Given the description of an element on the screen output the (x, y) to click on. 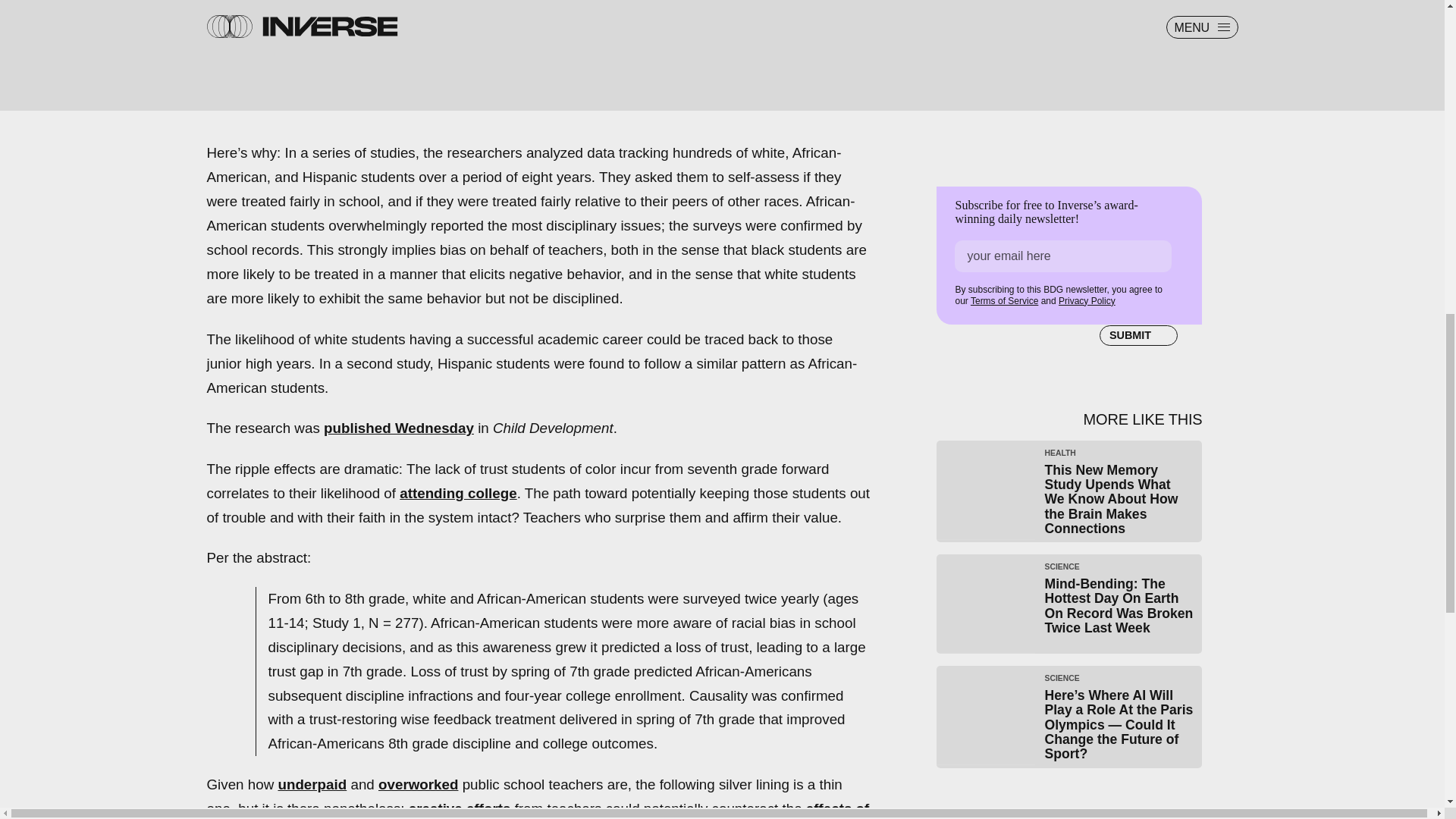
effects of bias (537, 809)
SUBMIT (1138, 335)
Privacy Policy (1086, 300)
overworked (418, 784)
creative efforts (460, 808)
published Wednesday (398, 427)
attending college (457, 493)
Terms of Service (1004, 300)
underpaid (312, 784)
